Given the description of an element on the screen output the (x, y) to click on. 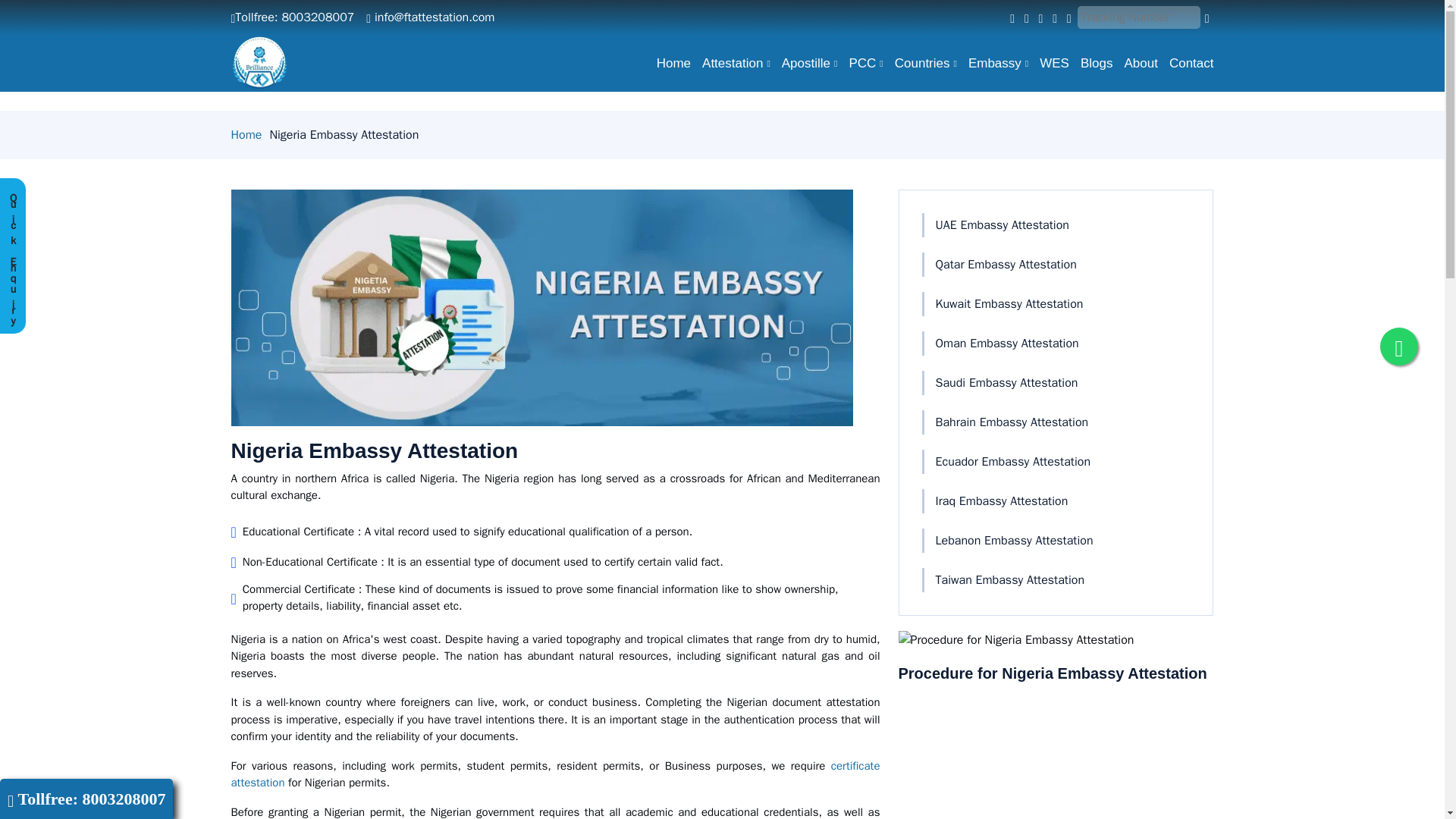
Apostille (804, 63)
Tollfree: 8003208007 (291, 17)
Attestation (730, 63)
Home (667, 63)
